Given the description of an element on the screen output the (x, y) to click on. 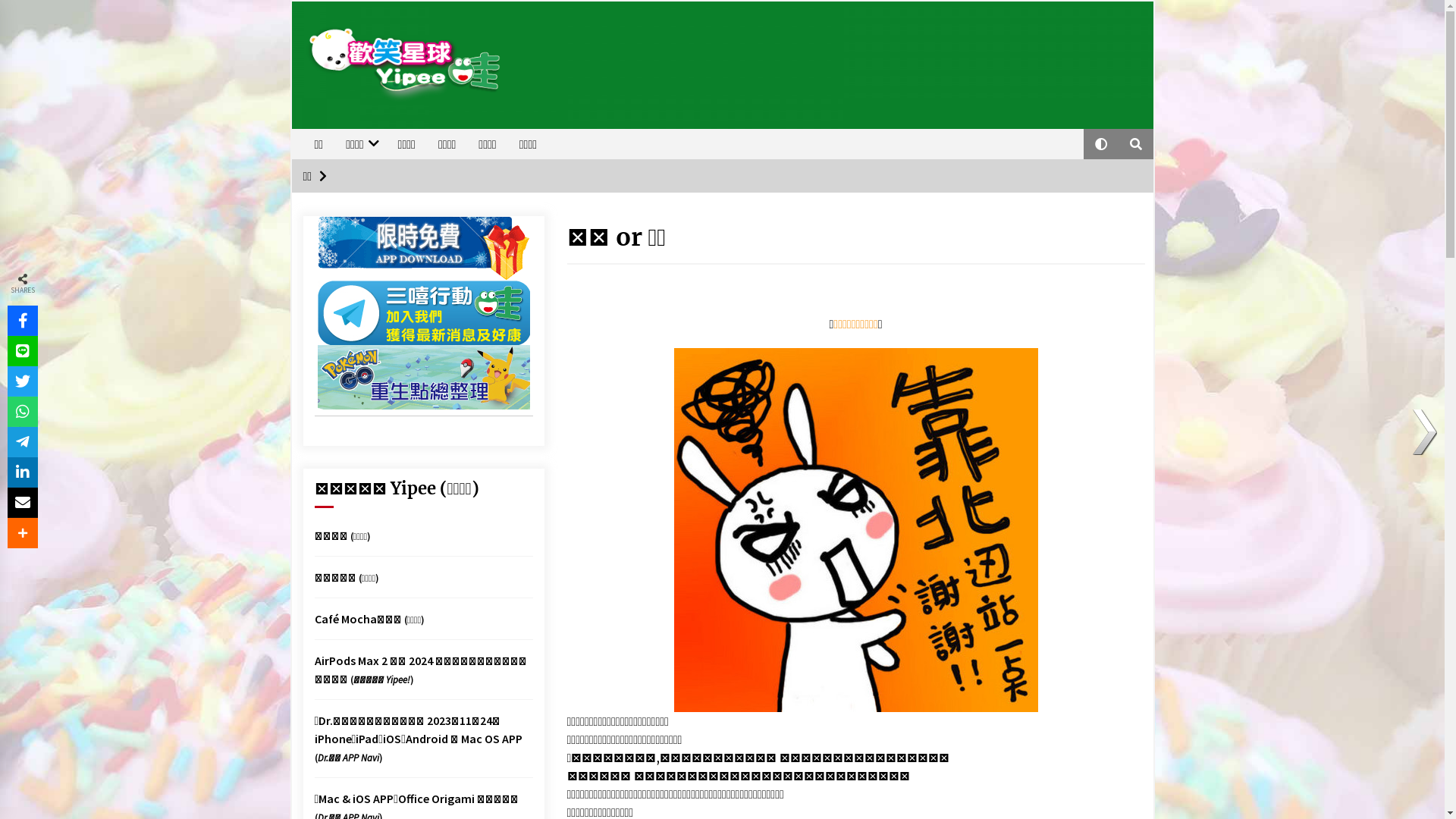
WhatsApp Element type: hover (22, 411)
f2925 Element type: hover (855, 530)
Tweet this ! Element type: hover (22, 381)
Line Element type: hover (22, 350)
More share links Element type: hover (22, 532)
Email this  Element type: hover (22, 502)
Add this to LinkedIn Element type: hover (22, 472)
Share this on Facebook Element type: hover (22, 320)
Telegram Element type: hover (22, 441)
